Given the description of an element on the screen output the (x, y) to click on. 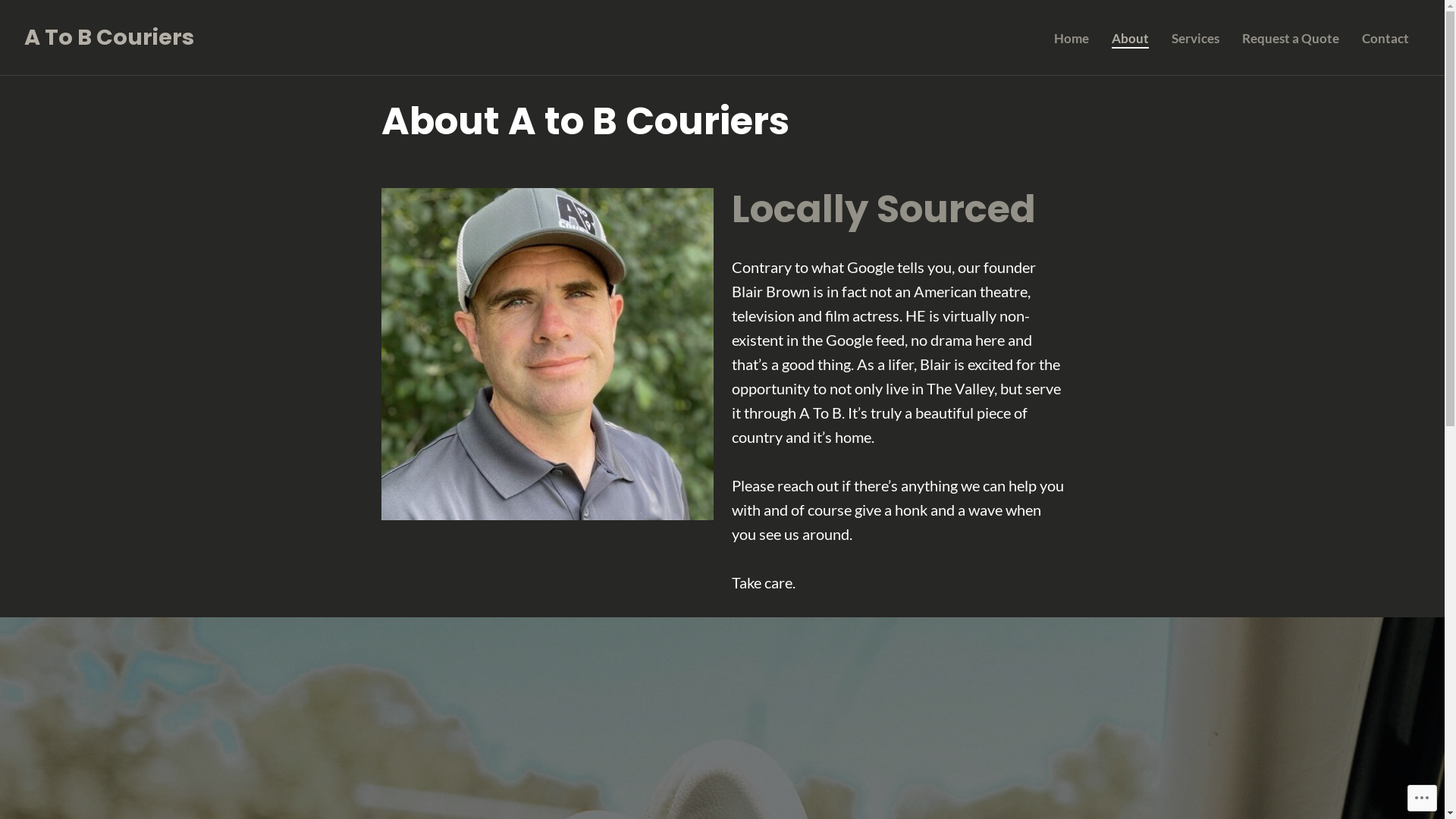
Home Element type: text (1071, 39)
A To B Couriers Element type: text (109, 36)
Request a Quote Element type: text (1290, 39)
About Element type: text (1129, 39)
Services Element type: text (1195, 39)
Contact Element type: text (1384, 39)
